Given the description of an element on the screen output the (x, y) to click on. 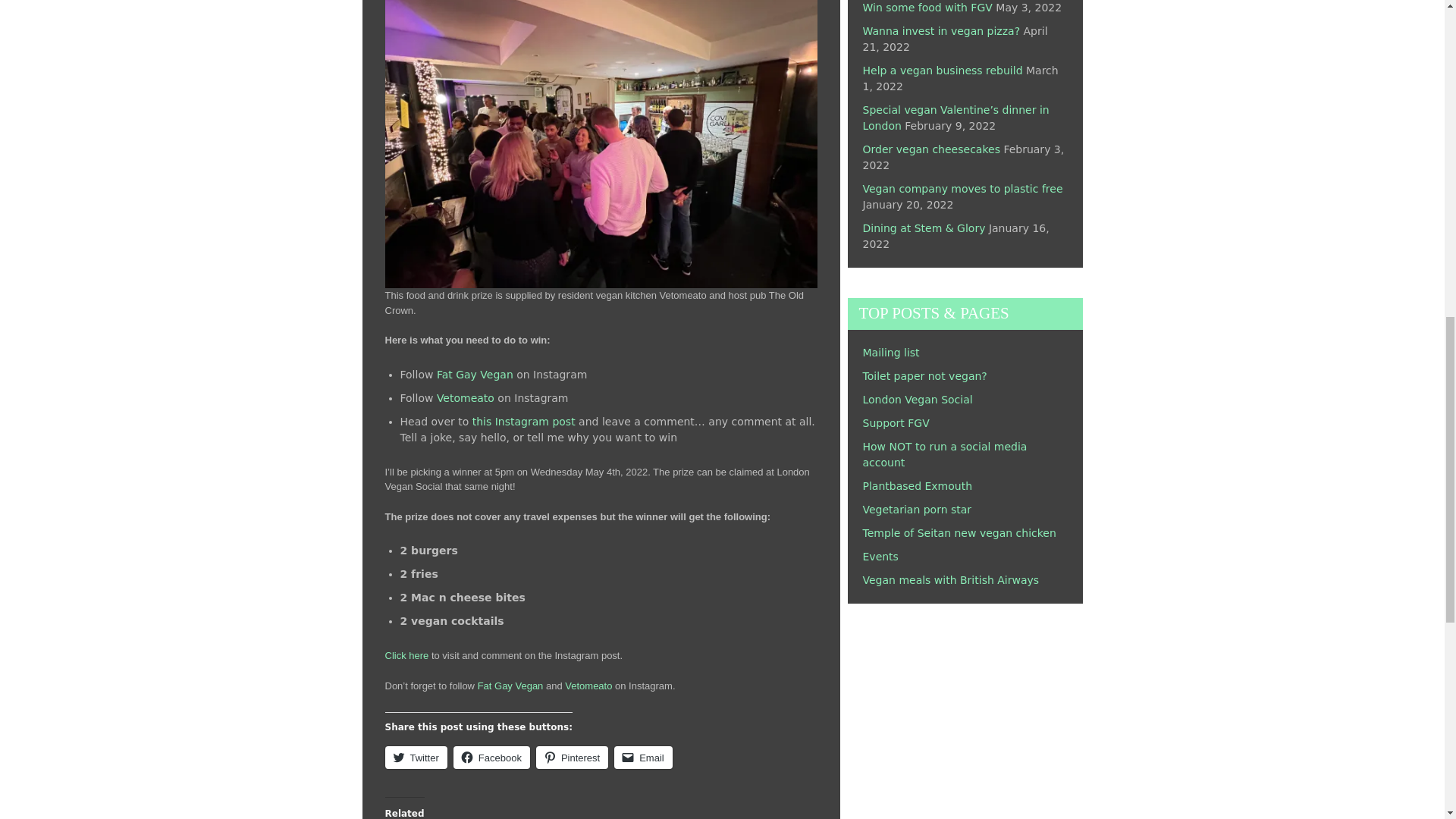
this Instagram post (523, 421)
Click to email a link to a friend (643, 757)
Facebook (490, 757)
Fat Gay Vegan (510, 685)
Vetomeato (465, 398)
Twitter (415, 757)
Click to share on Pinterest (571, 757)
Vetomeato (587, 685)
Fat Gay Vegan (474, 374)
Click here (407, 655)
Click to share on Facebook (490, 757)
Email (643, 757)
Pinterest (571, 757)
Click to share on Twitter (415, 757)
